Given the description of an element on the screen output the (x, y) to click on. 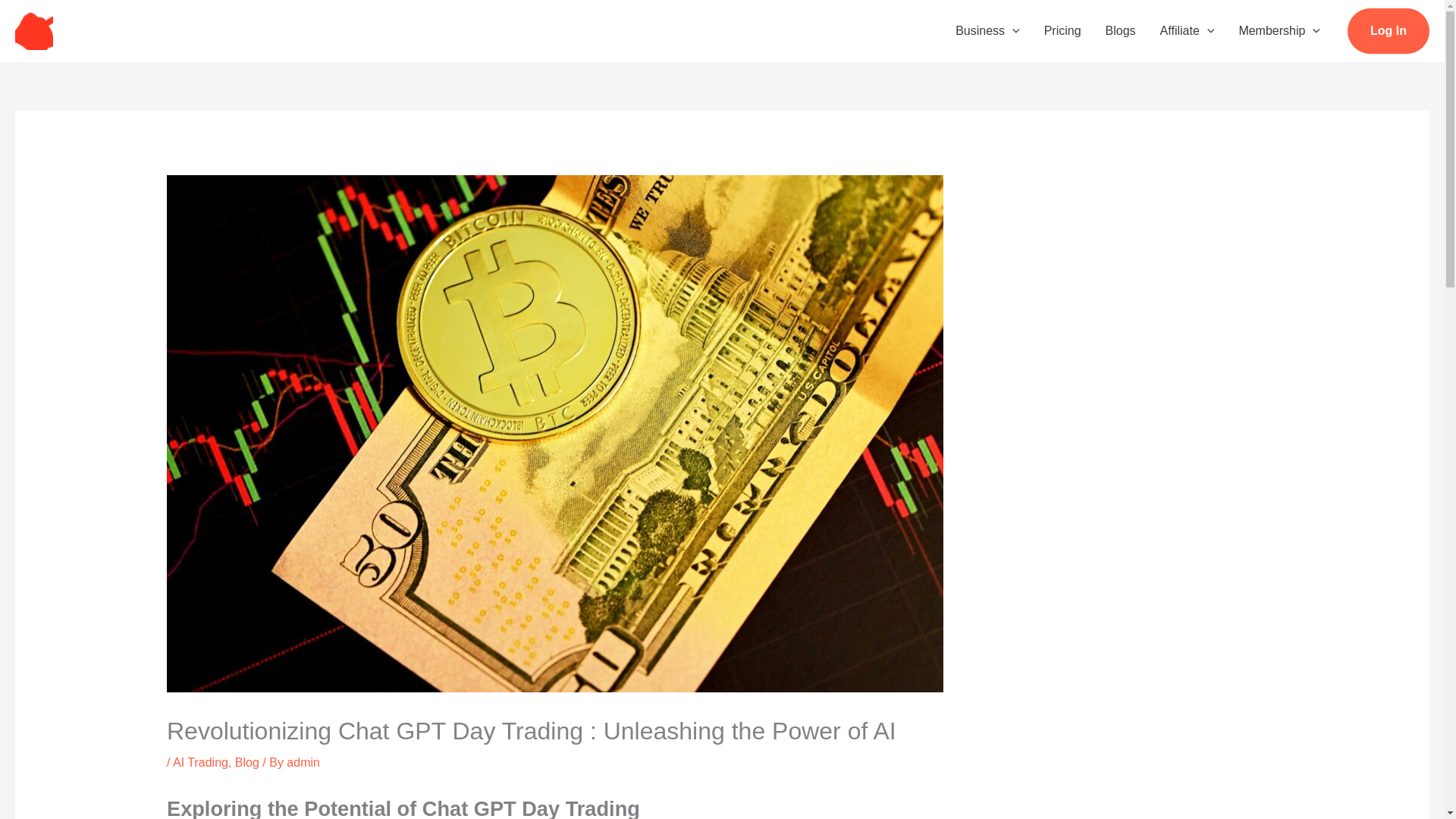
Pricing (1062, 30)
Affiliate (1187, 30)
Blogs (1120, 30)
Business (987, 30)
Membership (1278, 30)
View all posts by admin (303, 762)
Log In (1388, 31)
